Given the description of an element on the screen output the (x, y) to click on. 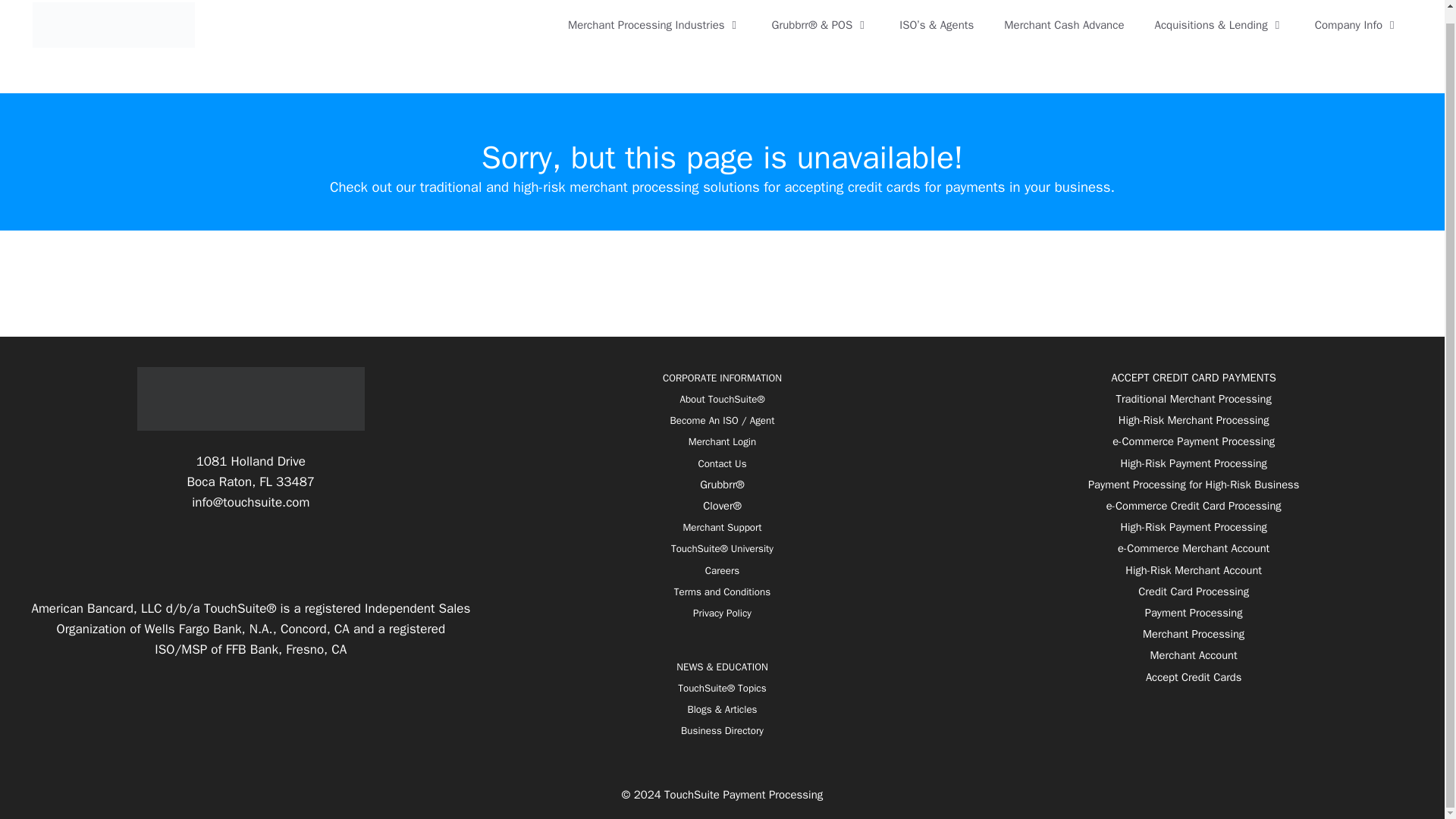
Merchant Processing Industries (655, 24)
Merchant Login (721, 440)
Company Info (1356, 24)
Merchant Cash Advance (1063, 24)
